Given the description of an element on the screen output the (x, y) to click on. 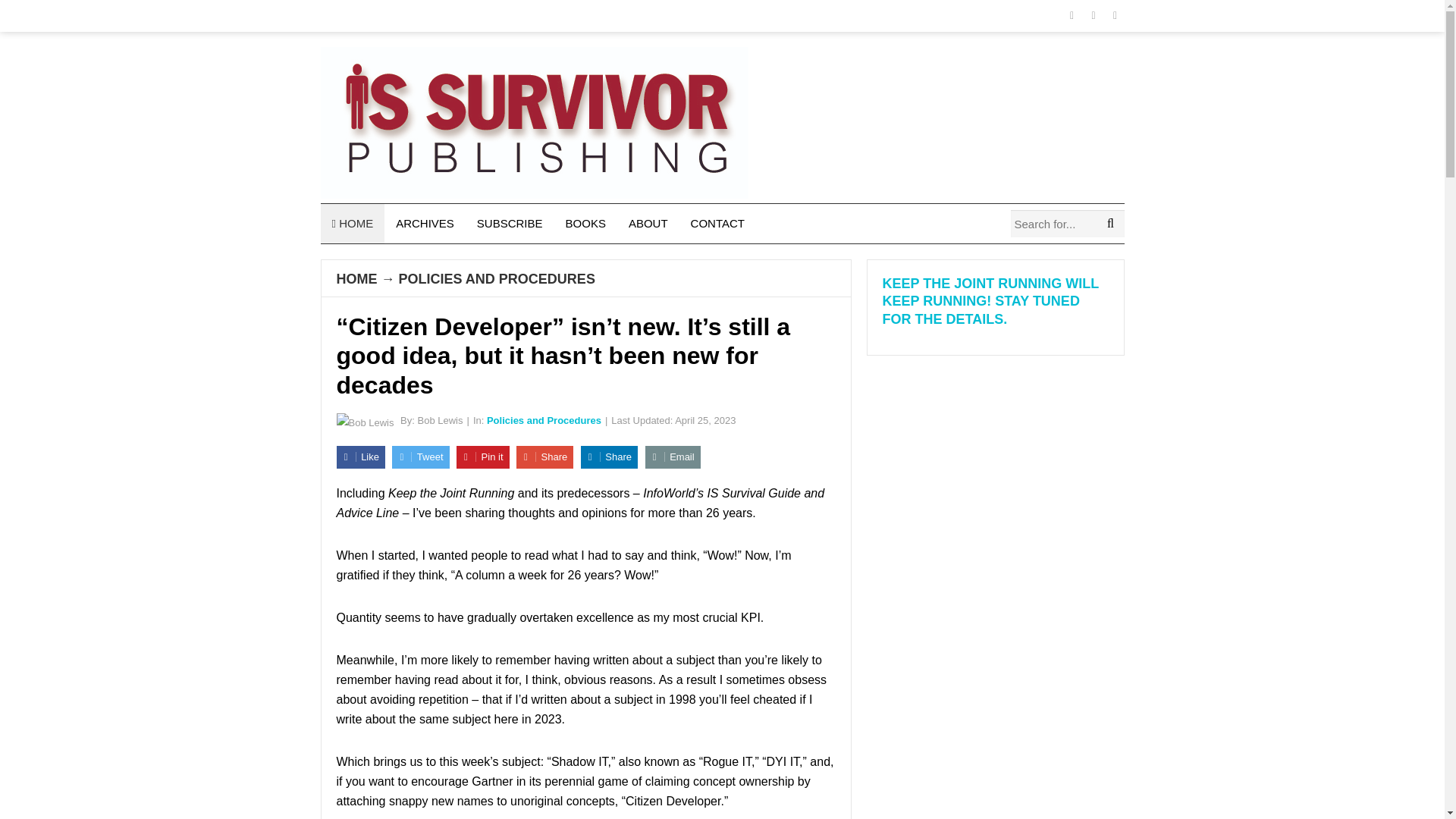
Policies and Procedures (543, 419)
Like (360, 456)
ABOUT (648, 223)
Pin it (483, 456)
HOME (352, 223)
POLICIES AND PROCEDURES (496, 278)
BOOKS (585, 223)
ARCHIVES (424, 223)
Share (608, 456)
Email (672, 456)
CONTACT (717, 223)
Tweet (419, 456)
Share (544, 456)
SUBSCRIBE (509, 223)
HOME (356, 278)
